Given the description of an element on the screen output the (x, y) to click on. 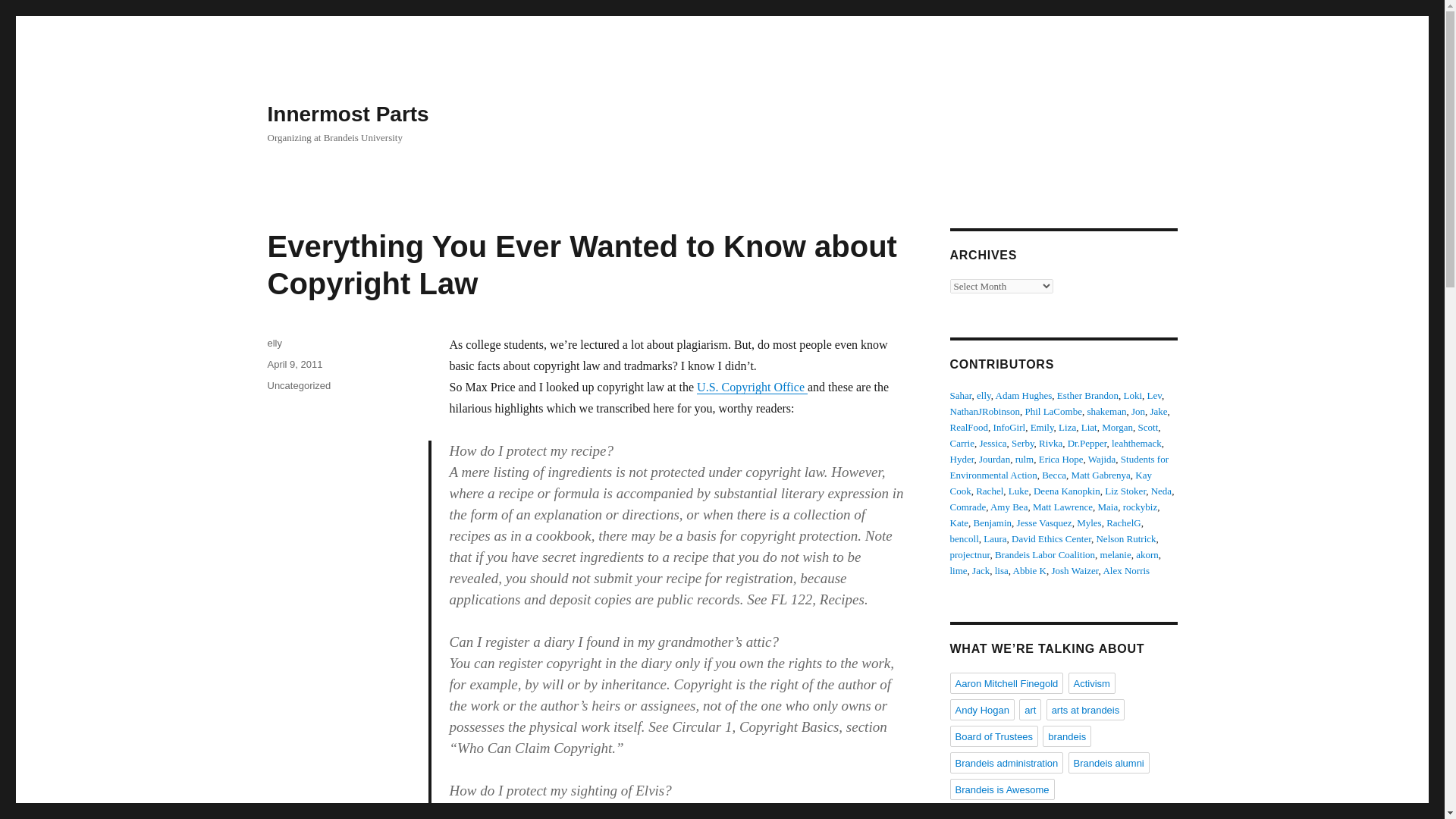
shakeman (1105, 410)
Lev (1154, 395)
Rivka (1050, 442)
Esther Brandon (1087, 395)
elly (983, 395)
Scott (1148, 427)
Hyder (961, 459)
shakeman (1105, 410)
NathanJRobinson (984, 410)
Liat (1089, 427)
